Given the description of an element on the screen output the (x, y) to click on. 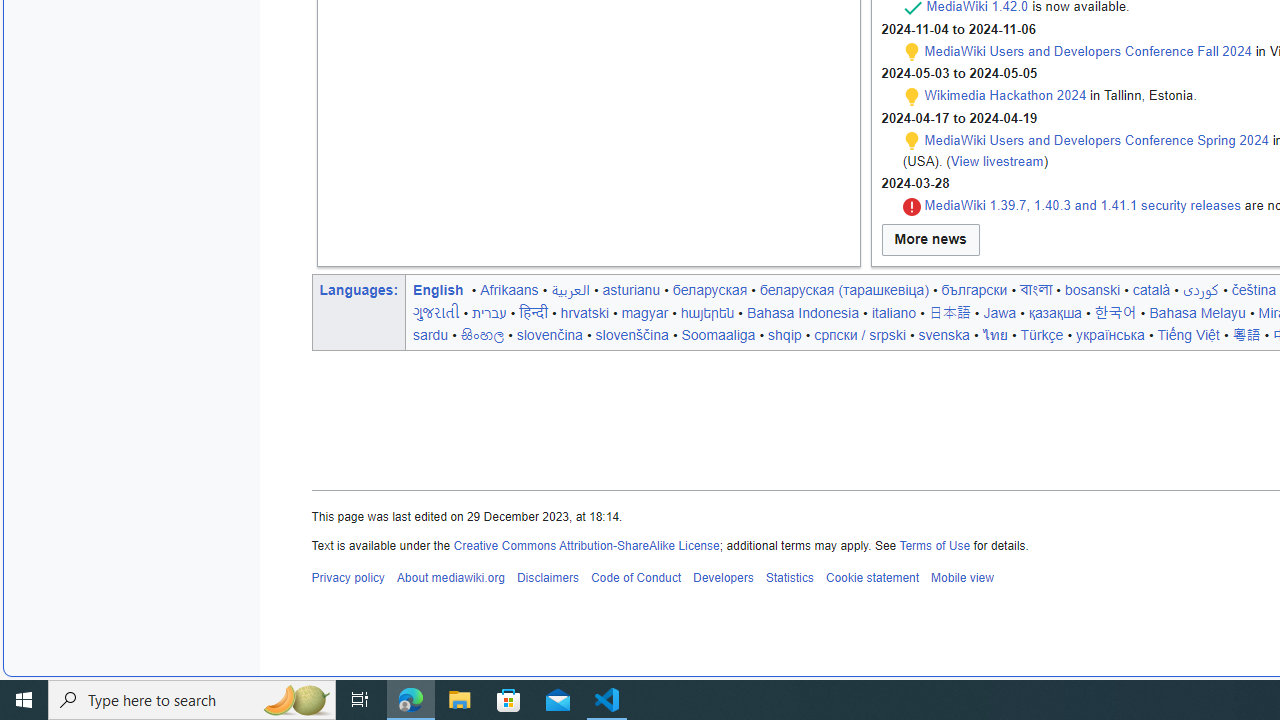
Disclaimers (546, 578)
More news (930, 239)
Cookie statement (872, 578)
Mobile view (962, 578)
Statistics (789, 578)
Maintenance update (911, 141)
Security (911, 206)
Soomaaliga (718, 334)
hrvatski (584, 312)
Developers (722, 578)
View livestream (996, 160)
Bahasa Indonesia (802, 312)
